Given the description of an element on the screen output the (x, y) to click on. 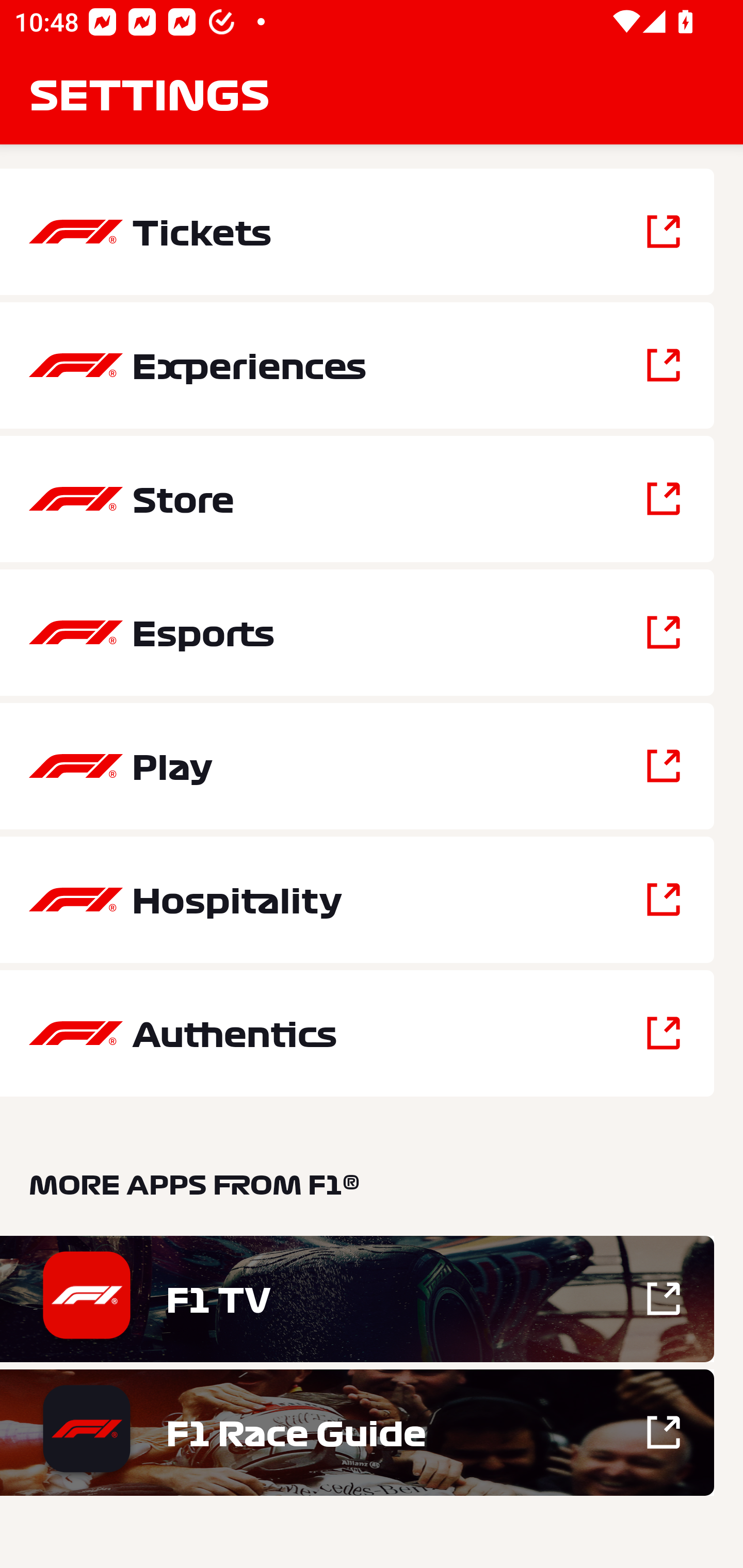
Tickets (357, 231)
Experiences (357, 365)
Store (357, 498)
Esports (357, 632)
Play (357, 765)
Hospitality (357, 899)
Authentics (357, 1033)
F1 TV (357, 1298)
F1 Race Guide (357, 1431)
